Given the description of an element on the screen output the (x, y) to click on. 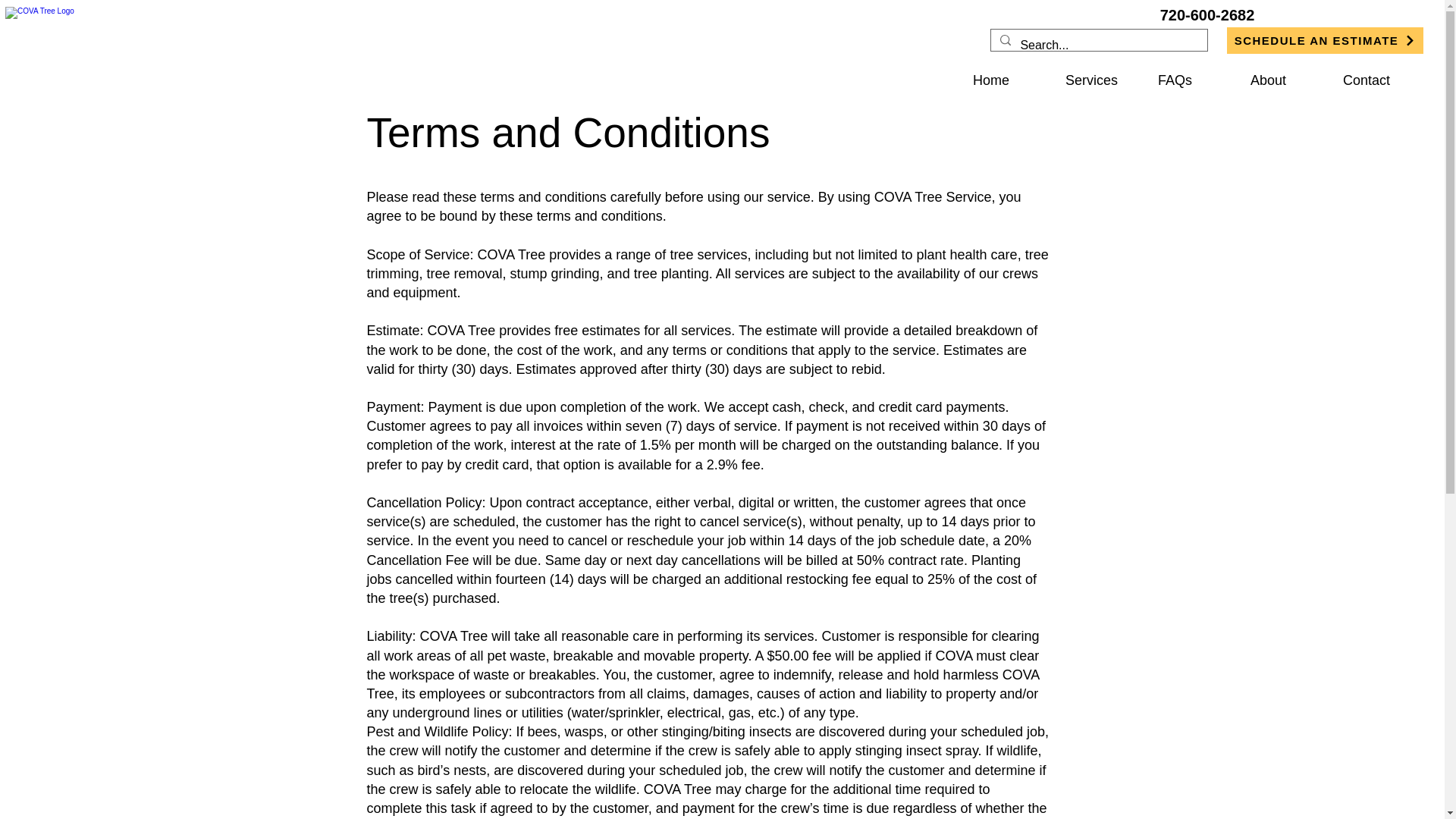
Contact (1377, 79)
720-600-2682 (1207, 14)
Home (1007, 79)
About (1285, 79)
SCHEDULE AN ESTIMATE (1325, 40)
FAQs (1193, 79)
Services (1100, 79)
